Given the description of an element on the screen output the (x, y) to click on. 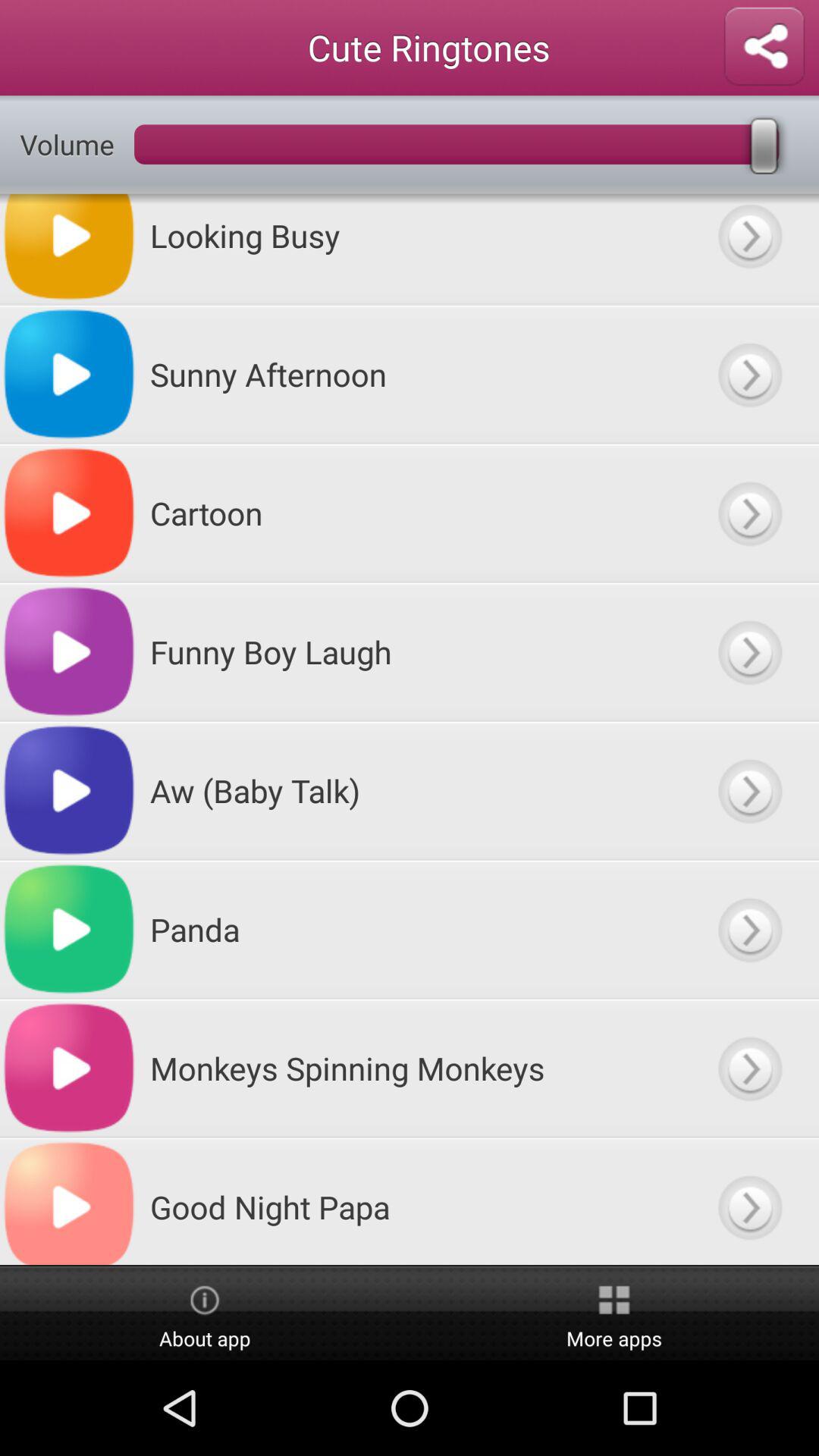
go to next (749, 929)
